Given the description of an element on the screen output the (x, y) to click on. 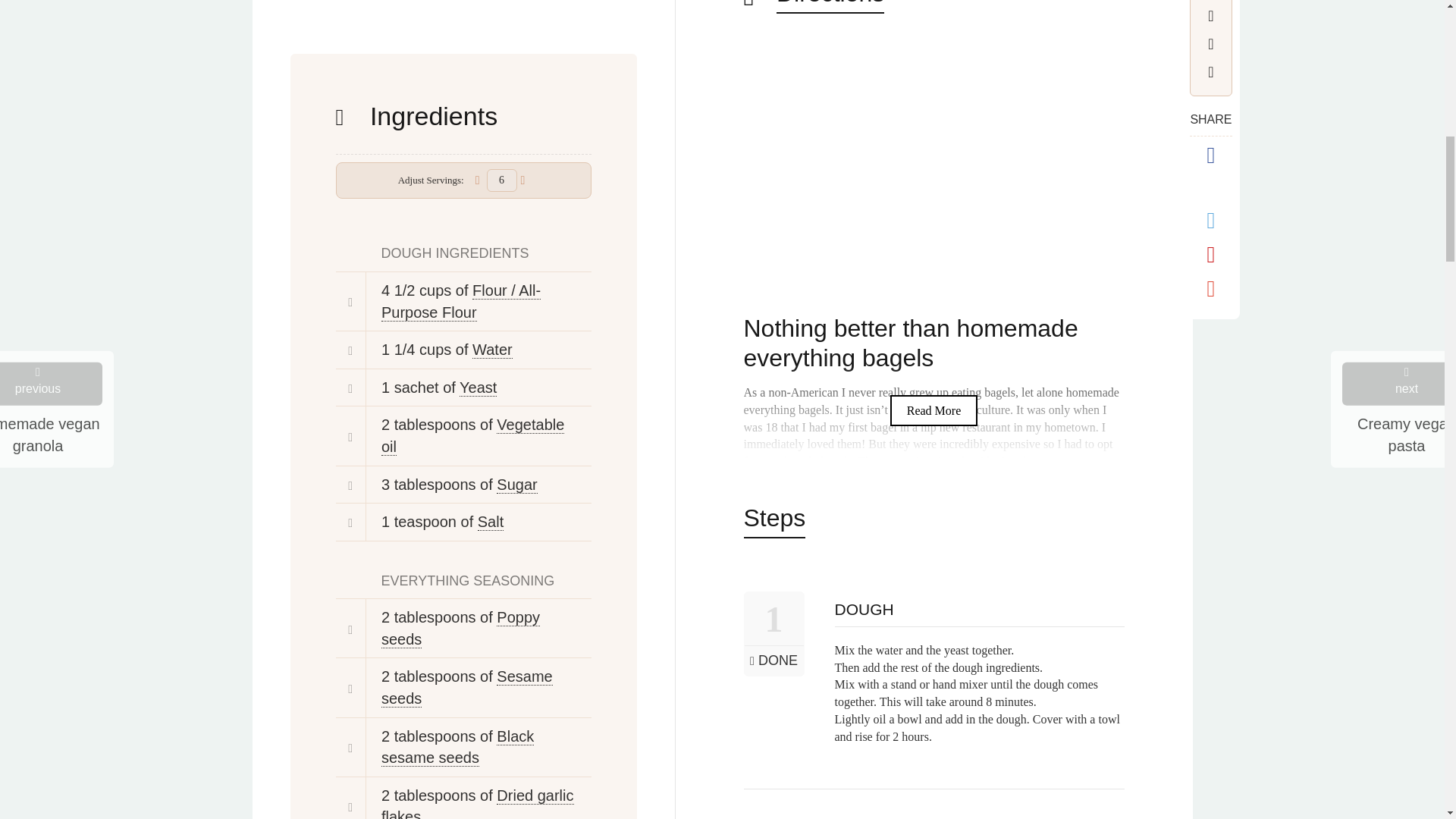
6 (501, 179)
